Given the description of an element on the screen output the (x, y) to click on. 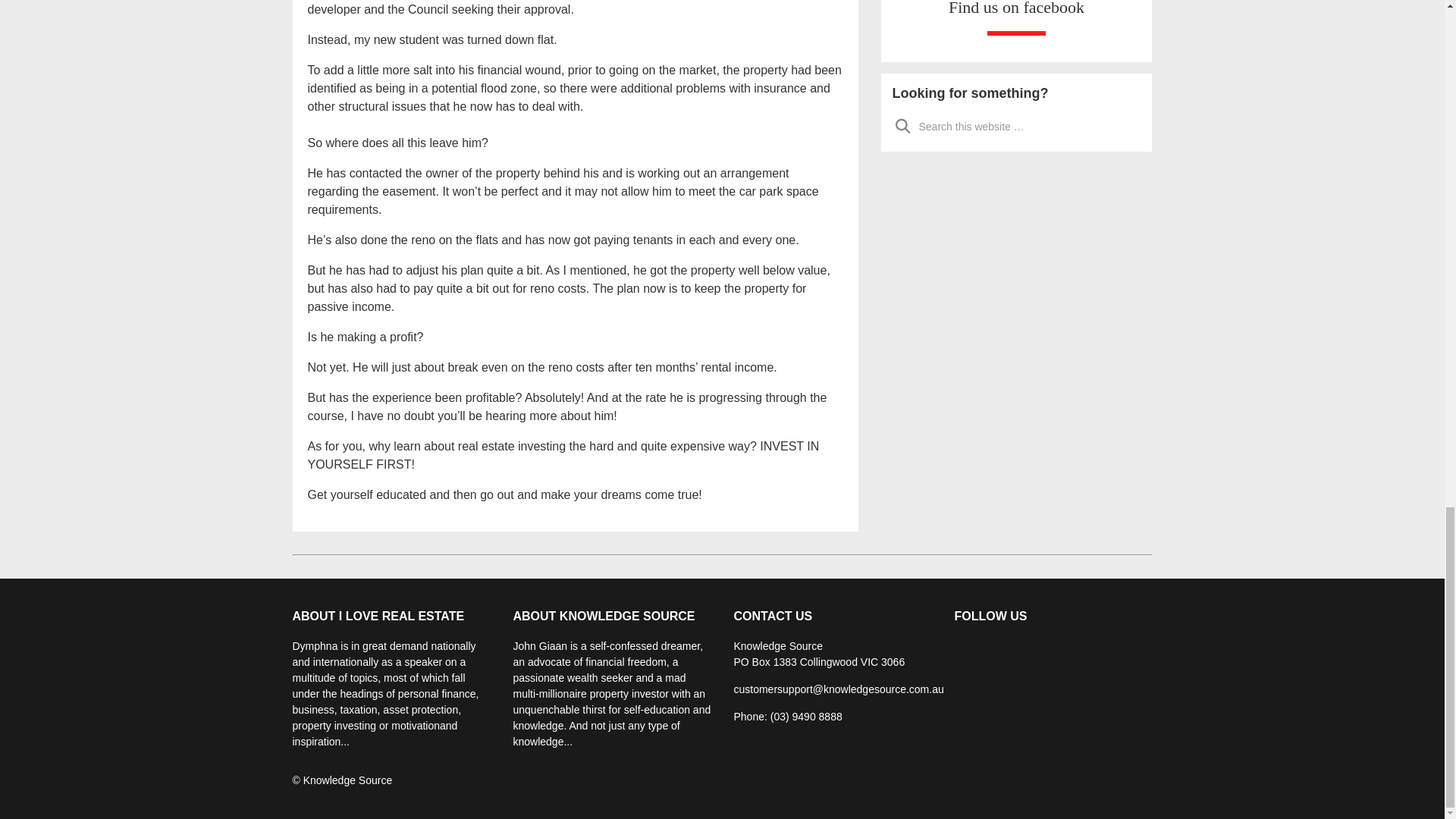
Search (902, 124)
